Given the description of an element on the screen output the (x, y) to click on. 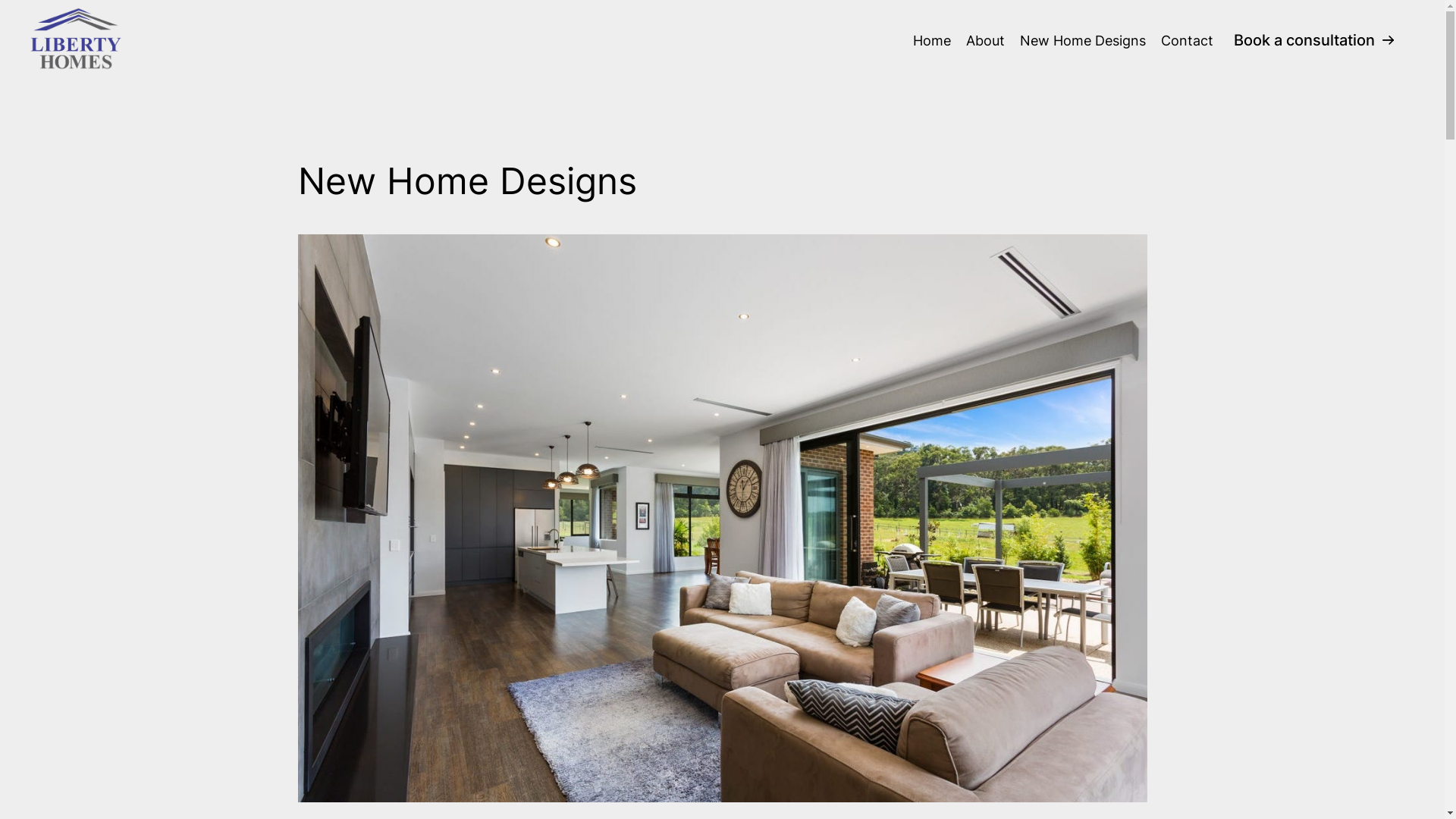
Home Element type: text (931, 40)
New Home Designs Element type: text (1082, 40)
About Element type: text (985, 40)
Book a consultation Element type: text (1314, 39)
Contact Element type: text (1186, 40)
